Given the description of an element on the screen output the (x, y) to click on. 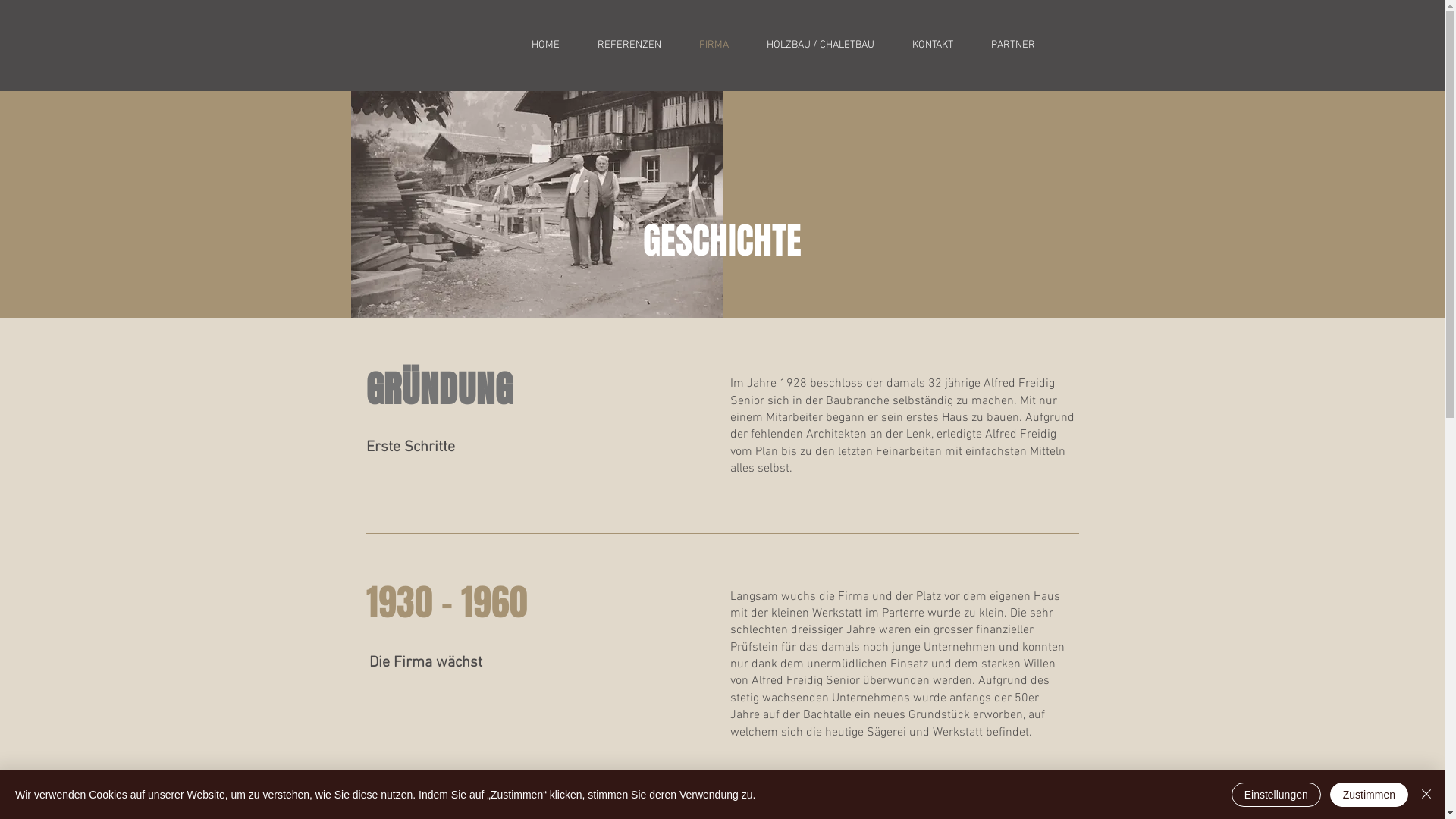
PARTNER Element type: text (1013, 45)
Zustimmen Element type: text (1369, 794)
REFERENZEN Element type: text (628, 45)
FIRMA Element type: text (712, 45)
Einstellungen Element type: text (1276, 794)
HOLZBAU / CHALETBAU Element type: text (820, 45)
HOME Element type: text (545, 45)
KONTAKT Element type: text (932, 45)
